Given the description of an element on the screen output the (x, y) to click on. 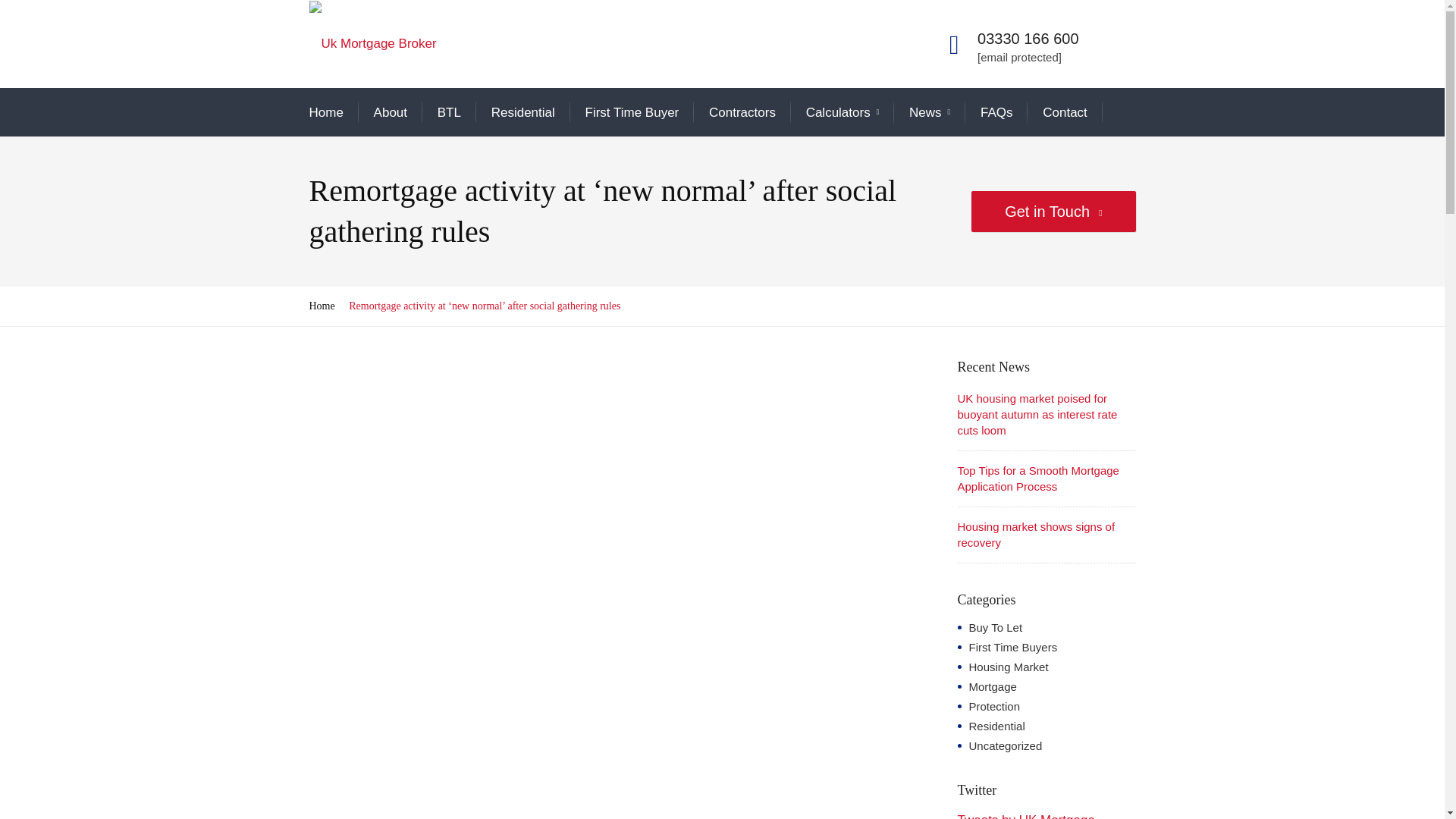
Residential (523, 112)
About (390, 112)
First Time Buyer (632, 112)
FAQs (996, 112)
Contractors (742, 112)
News (929, 113)
BTL (449, 112)
Home (325, 112)
Calculators (842, 113)
03330 166 600 (1027, 38)
Contact (1064, 112)
